Given the description of an element on the screen output the (x, y) to click on. 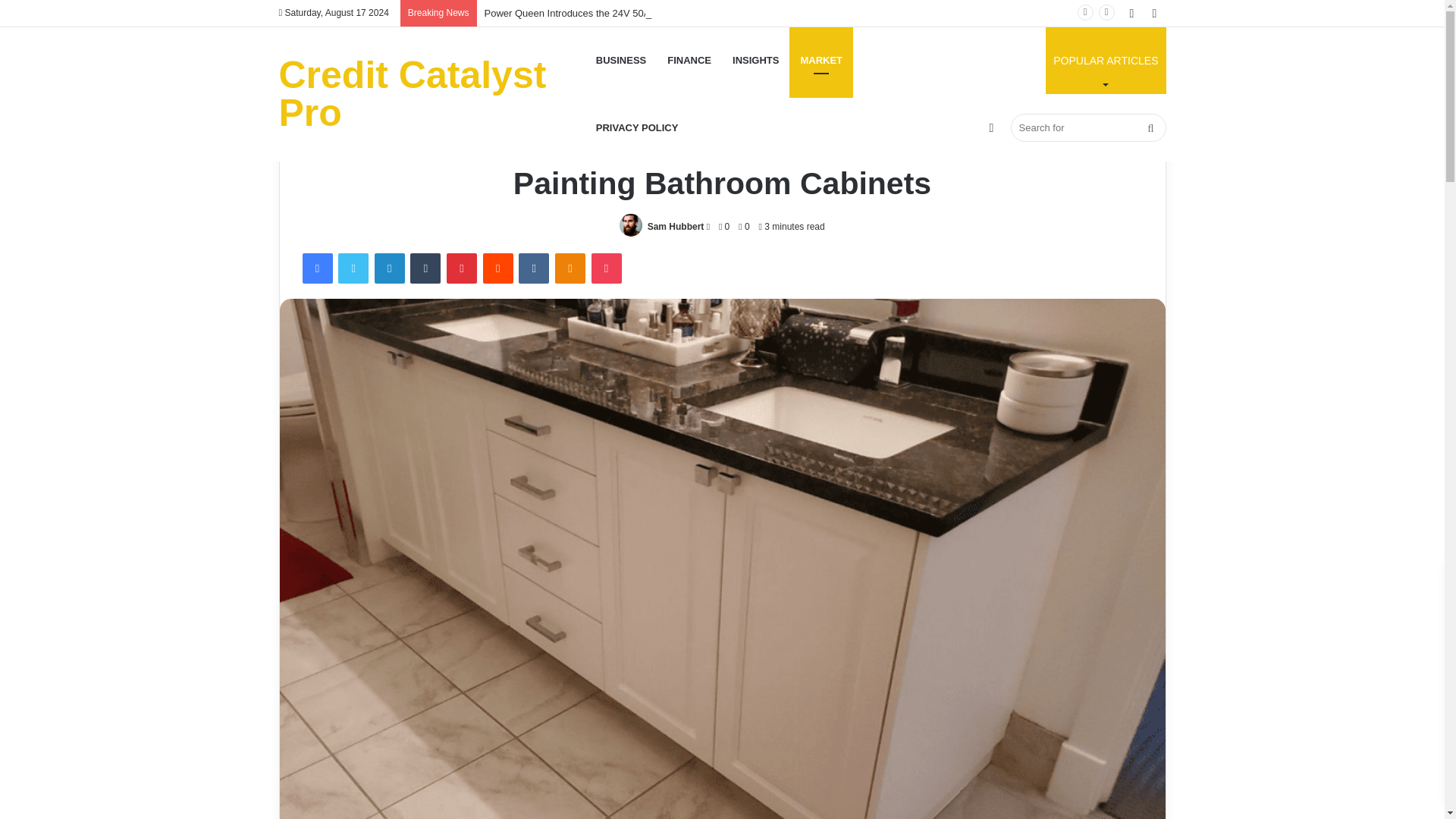
Search for (1088, 127)
Facebook (316, 268)
FINANCE (689, 60)
PRIVACY POLICY (636, 127)
Reddit (498, 268)
Twitter (352, 268)
MARKET (821, 60)
Tumblr (425, 268)
VKontakte (533, 268)
